Given the description of an element on the screen output the (x, y) to click on. 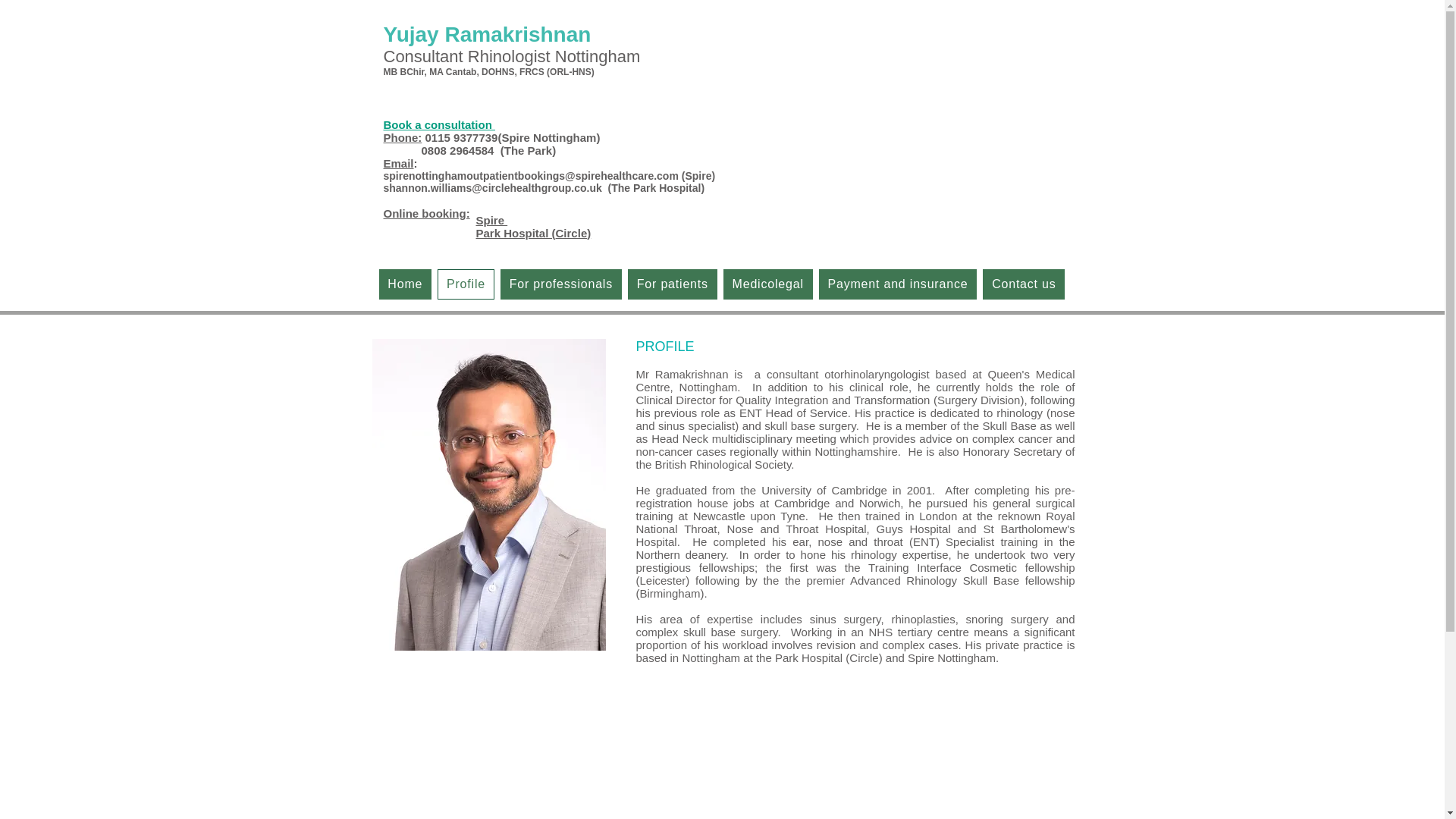
Contact us (1023, 284)
Medicolegal (767, 284)
Home (405, 284)
For professionals (560, 284)
Spire  (492, 219)
Profile (466, 284)
Payment and insurance (897, 284)
For patients (672, 284)
